Given the description of an element on the screen output the (x, y) to click on. 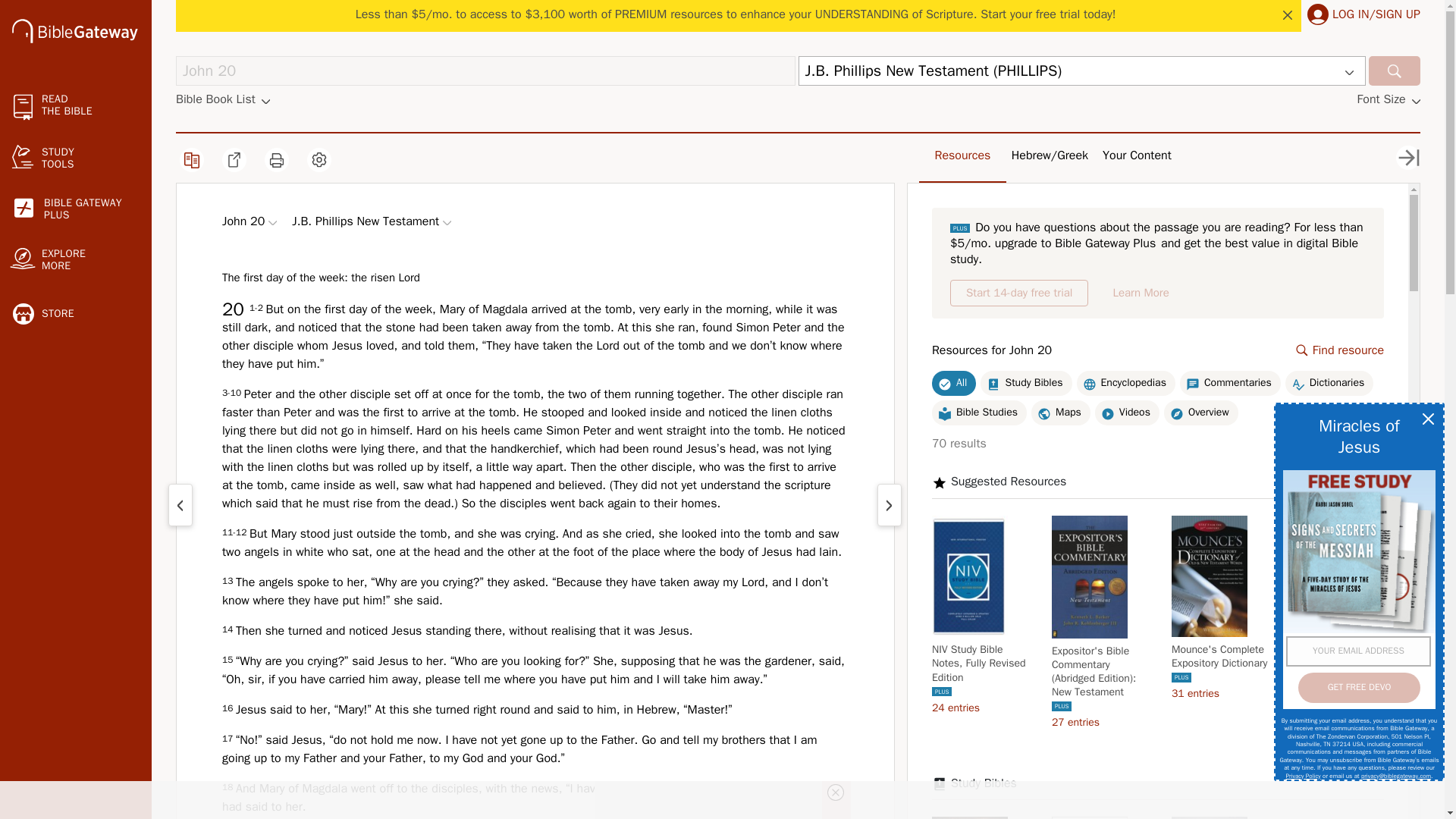
GET FREE DEVO (1359, 687)
Resources (962, 155)
Your Content (1137, 155)
Open menu (271, 222)
account (1317, 14)
Bible Book List (222, 99)
Search (1394, 70)
Bible Gateway logo (74, 30)
3rd party ad content (75, 814)
John 20 (485, 70)
Close Sidebar (75, 209)
Learn More (1408, 157)
Start 14-day free trial (1140, 293)
close (1019, 293)
